Given the description of an element on the screen output the (x, y) to click on. 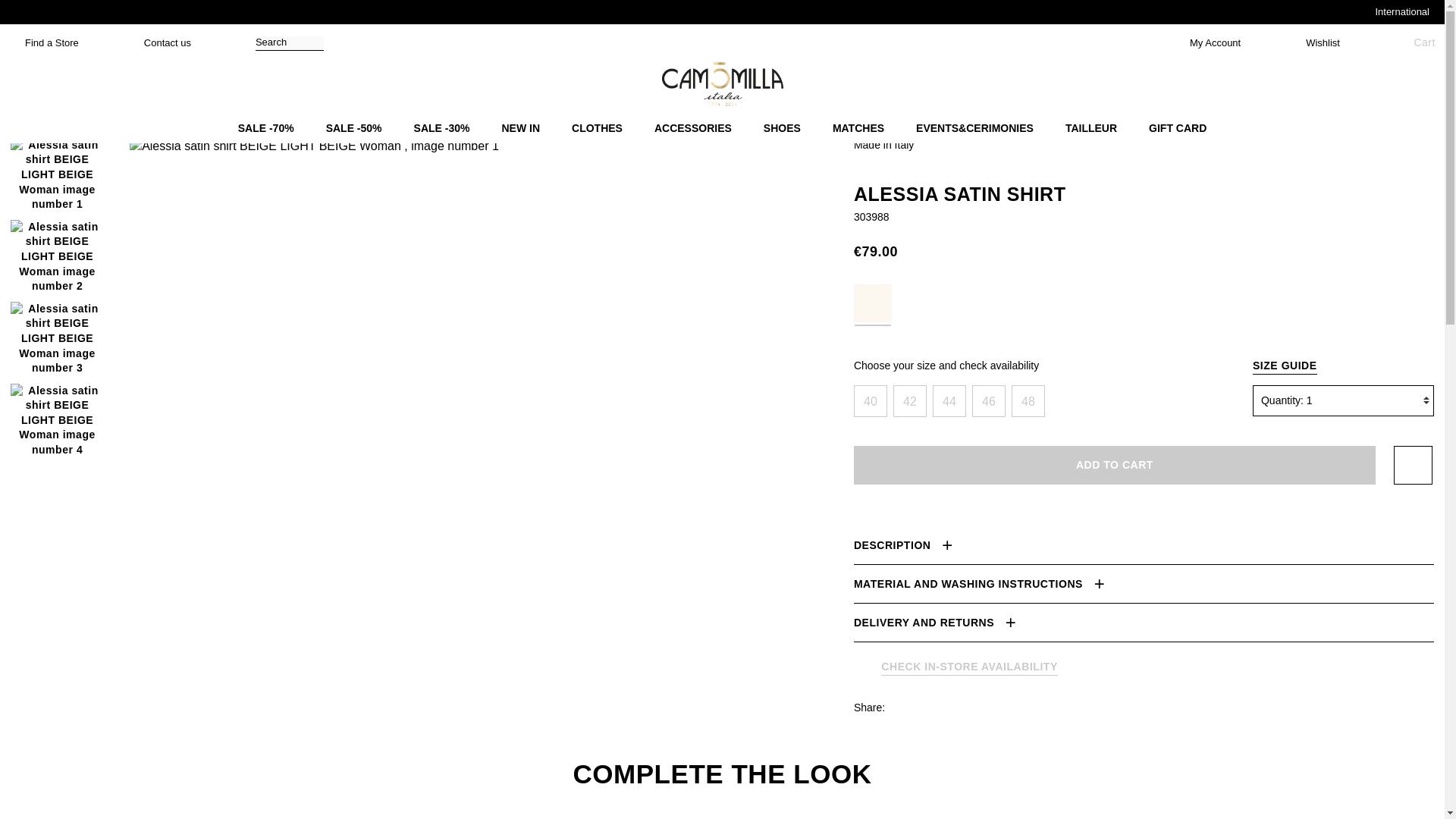
International (1398, 11)
CLOTHES (596, 128)
My Account (1206, 42)
Contact us (159, 42)
Cart (1412, 43)
Find a Store (43, 42)
NEW IN (520, 128)
Wishlist (1314, 42)
